Given the description of an element on the screen output the (x, y) to click on. 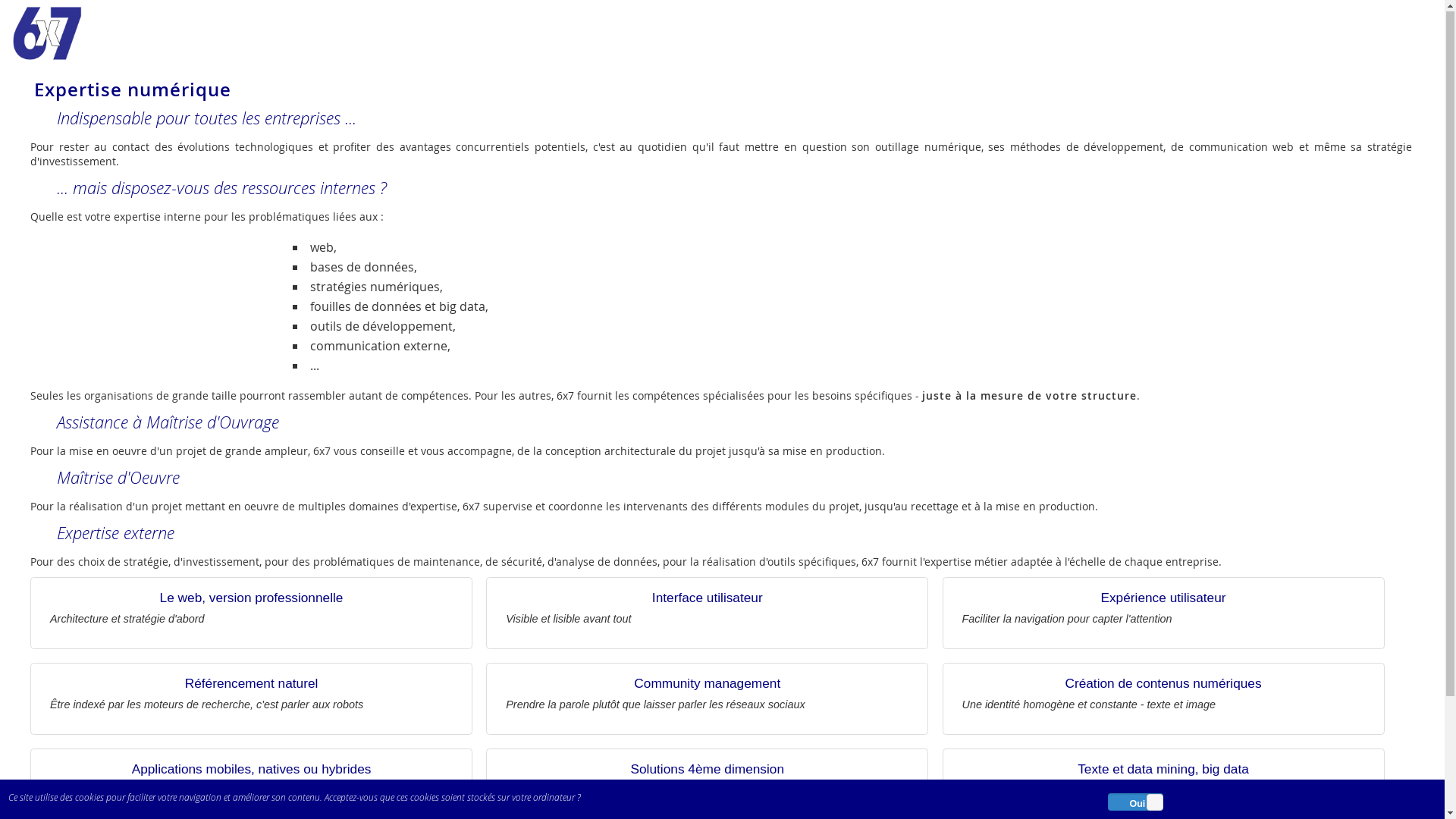
Interface utilisateur
Visible et lisible avant tout Element type: text (707, 613)
Oui Element type: text (1154, 802)
